Given the description of an element on the screen output the (x, y) to click on. 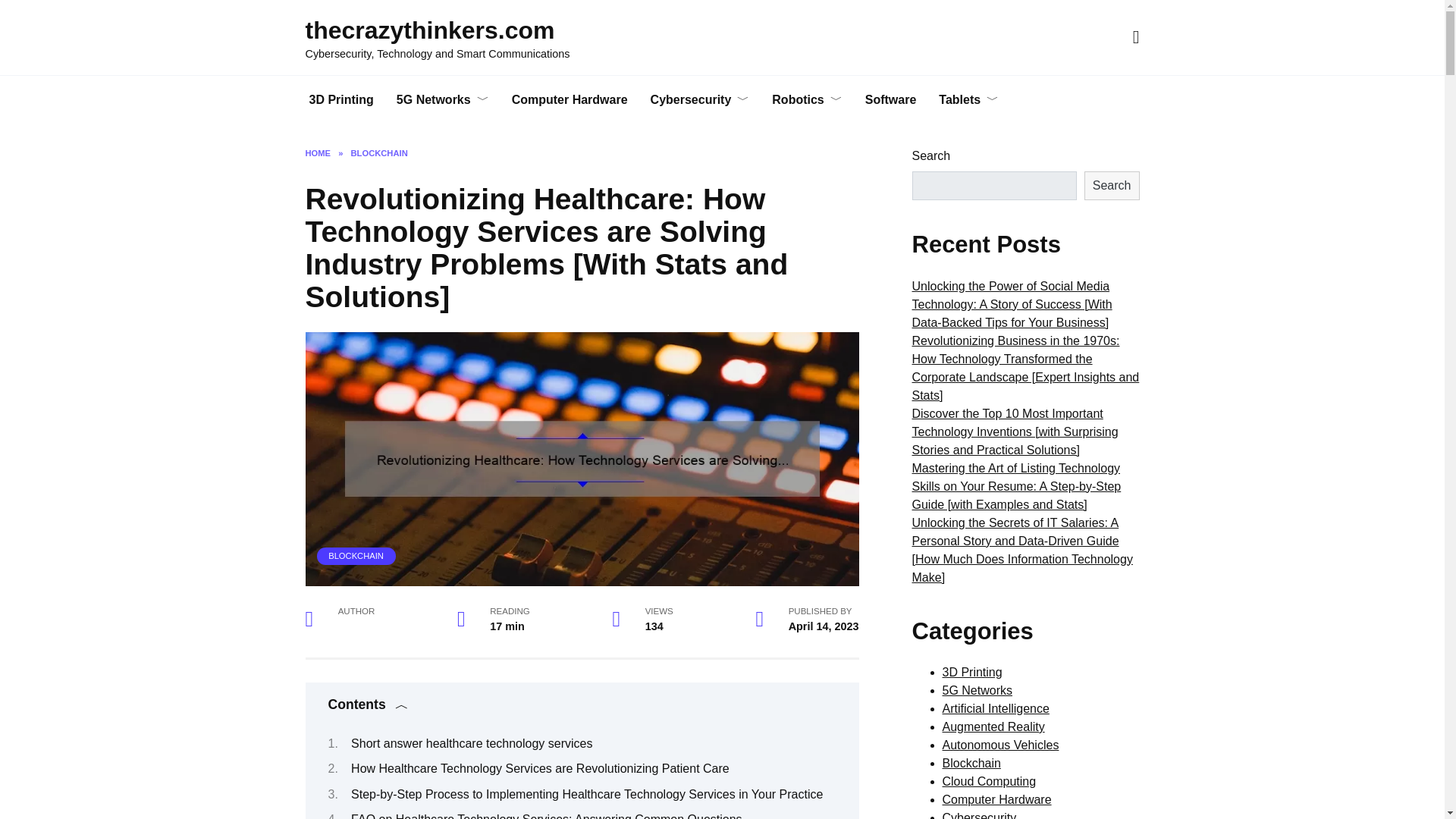
Cybersecurity (700, 100)
3D Printing (340, 100)
Computer Hardware (569, 100)
5G Networks (442, 100)
Software (890, 100)
thecrazythinkers.com (429, 30)
Robotics (806, 100)
Tablets (968, 100)
